Given the description of an element on the screen output the (x, y) to click on. 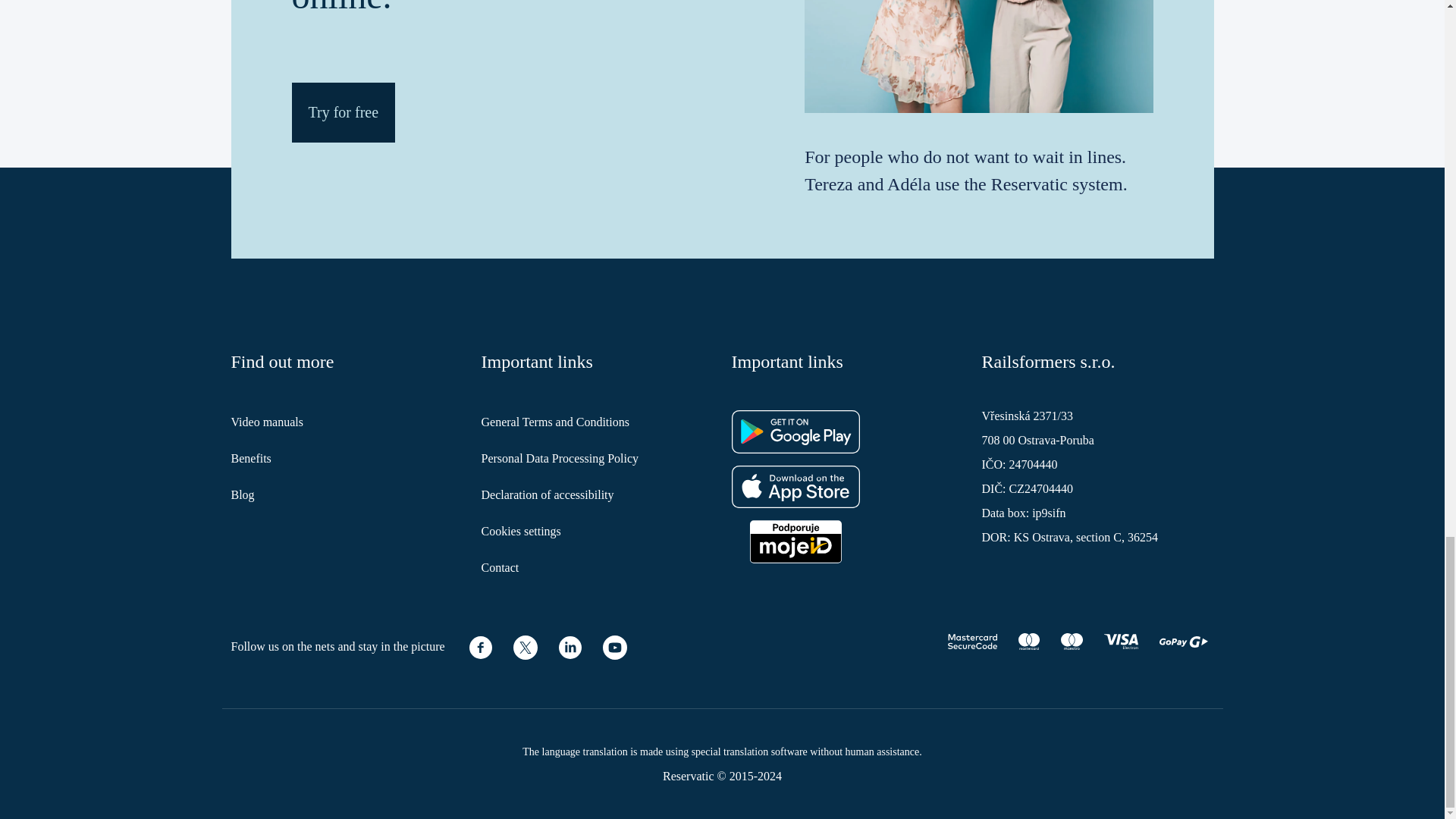
General Terms and Conditions (554, 421)
Personal Data Processing Policy (559, 458)
Blog (241, 494)
Declaration of accessibility (546, 494)
Video manuals (266, 421)
Try for free (342, 112)
Contact (499, 567)
Benefits (250, 458)
Cookies settings (520, 530)
